Given the description of an element on the screen output the (x, y) to click on. 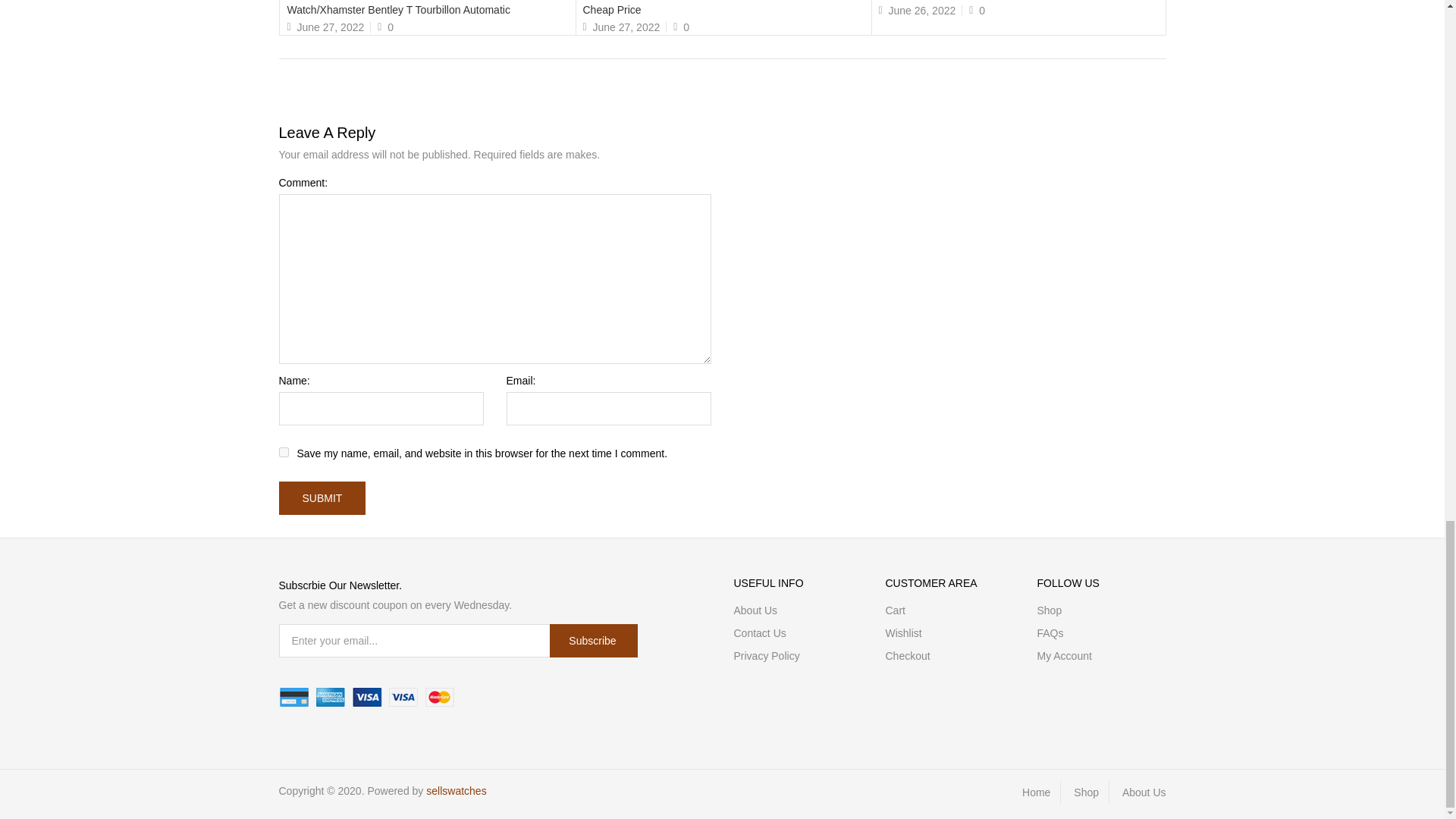
subscribe (593, 640)
payments (366, 696)
yes (283, 452)
submit (322, 498)
